Given the description of an element on the screen output the (x, y) to click on. 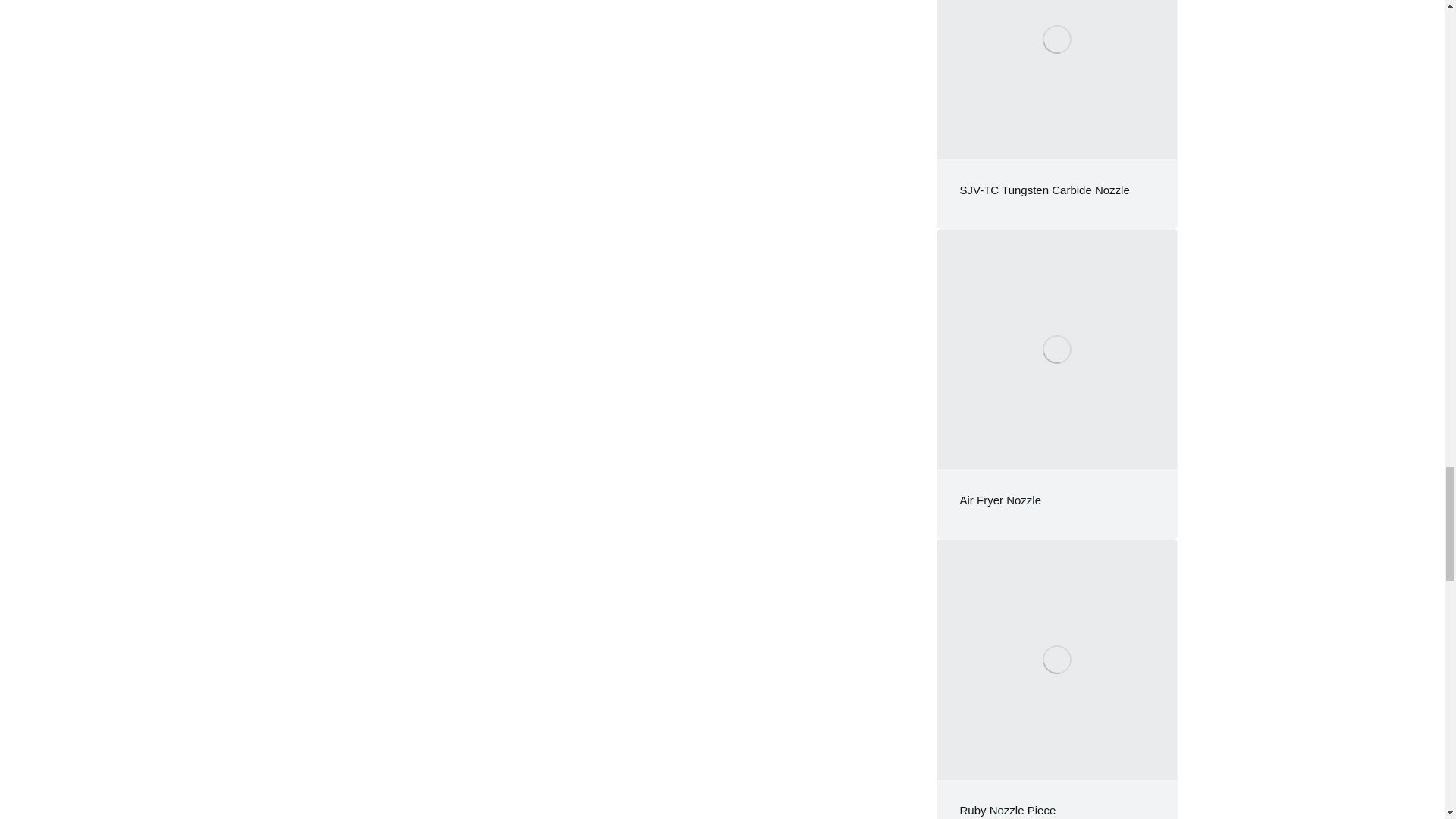
SJV-TC Tungsten Carbide Nozzle (1044, 189)
Air Fryer Nozzle (1000, 499)
Ruby Nozzle Piece (1008, 809)
